Given the description of an element on the screen output the (x, y) to click on. 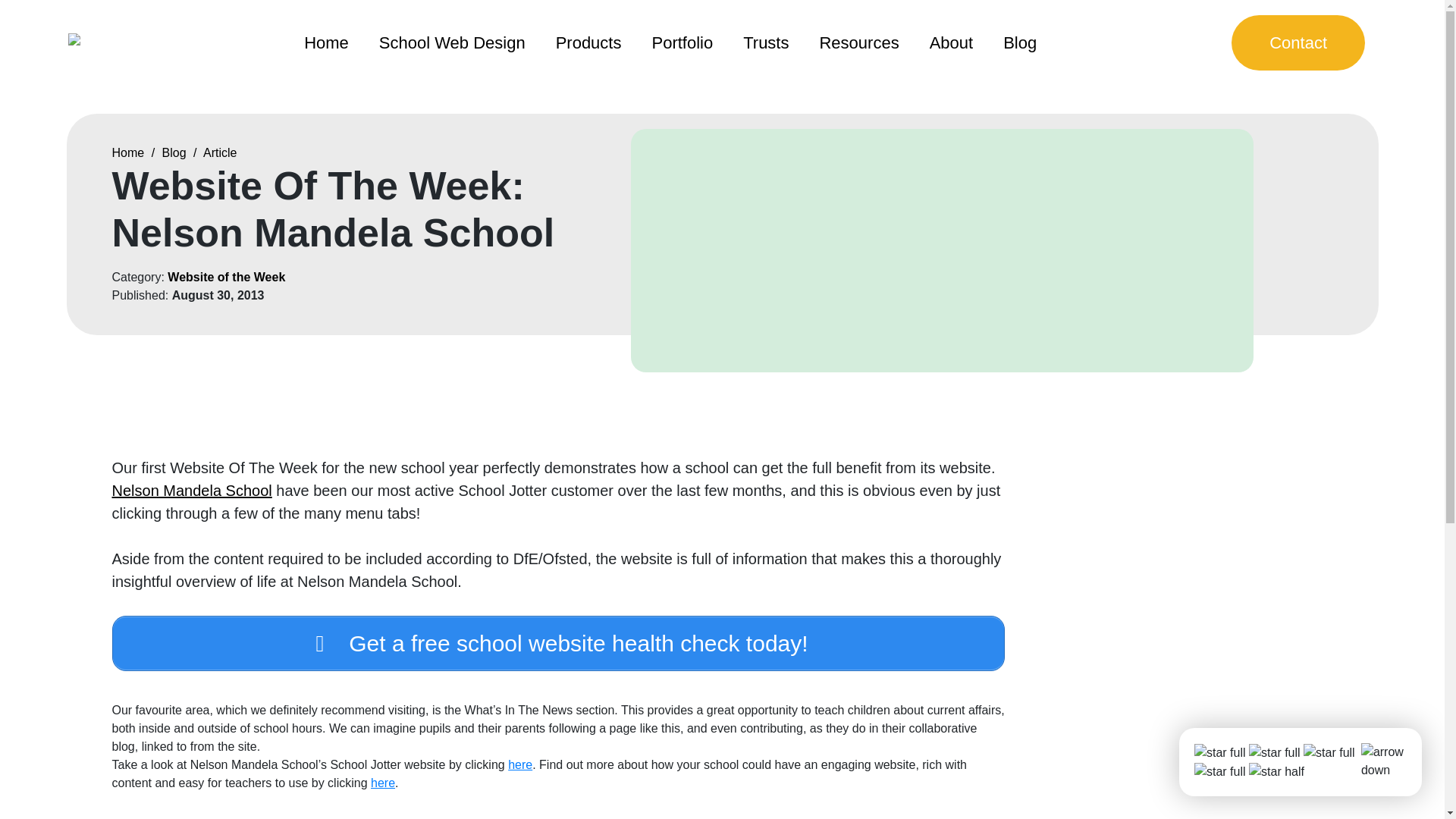
Trusts (765, 42)
Products (588, 42)
Portfolio (681, 42)
School Web Design (451, 42)
Home (326, 42)
